Given the description of an element on the screen output the (x, y) to click on. 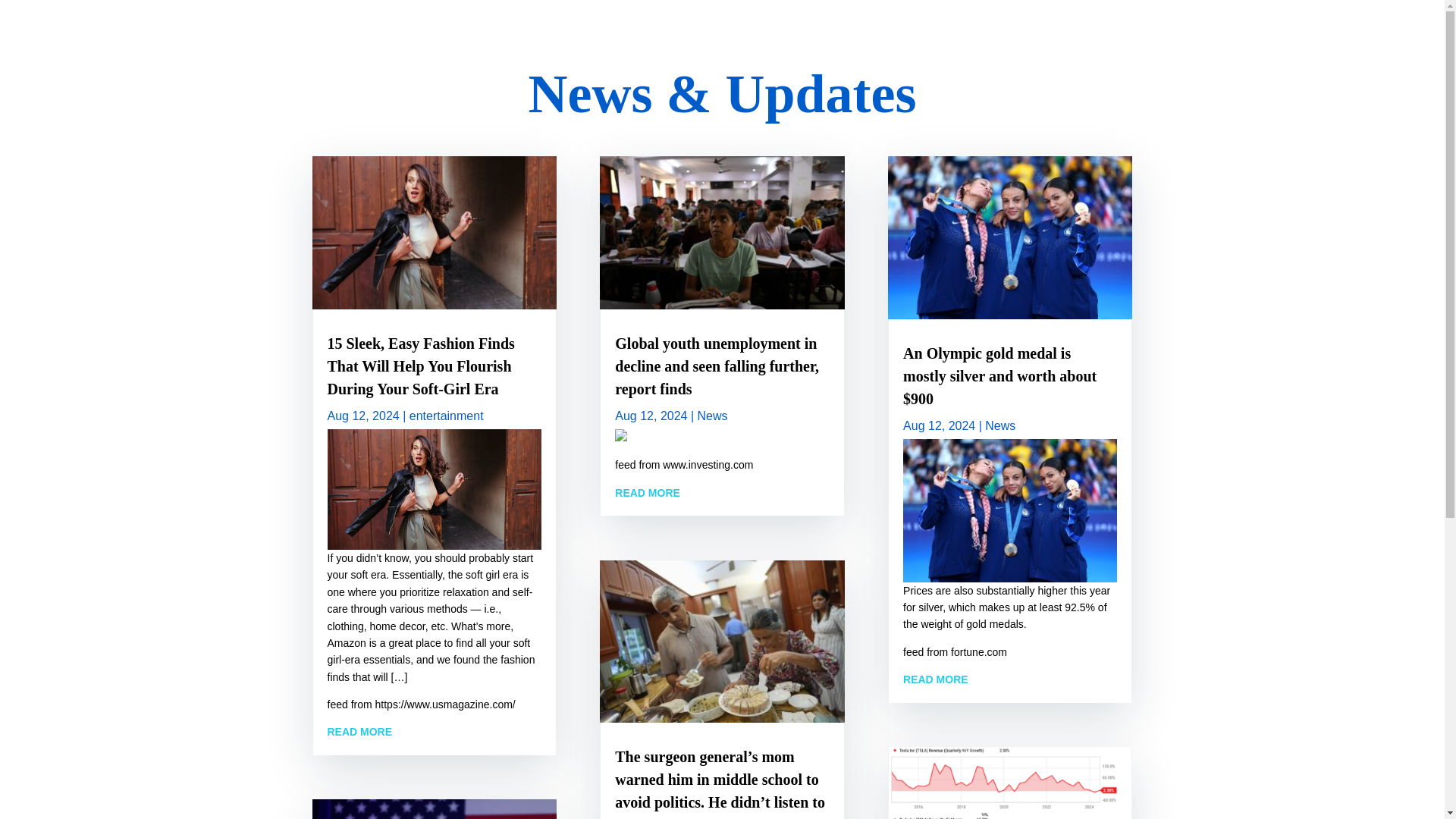
READ MORE (935, 679)
READ MORE (360, 731)
entertainment (446, 415)
News (712, 415)
READ MORE (646, 492)
News (999, 425)
